Given the description of an element on the screen output the (x, y) to click on. 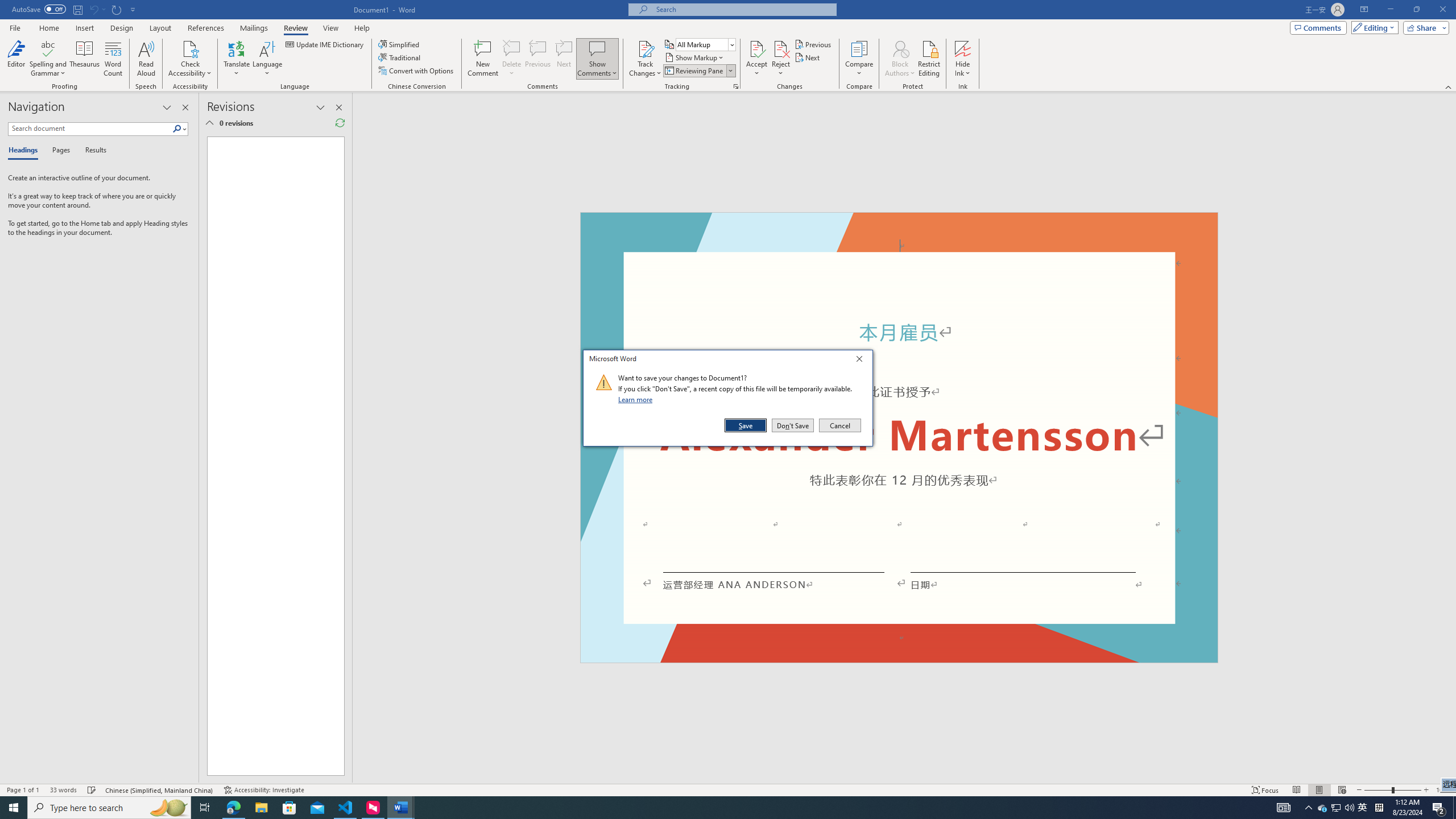
Show Comments (597, 48)
Accept and Move to Next (756, 48)
Delete (511, 58)
Reviewing Pane (698, 69)
Zoom (1392, 790)
Previous (813, 44)
Save (746, 425)
View (330, 28)
Show Markup (695, 56)
Visual Studio Code - 1 running window (345, 807)
Class: NetUIScrollBar (1450, 437)
Show desktop (1454, 807)
Mode (1372, 27)
New Comment (482, 58)
Don't Save (792, 425)
